Given the description of an element on the screen output the (x, y) to click on. 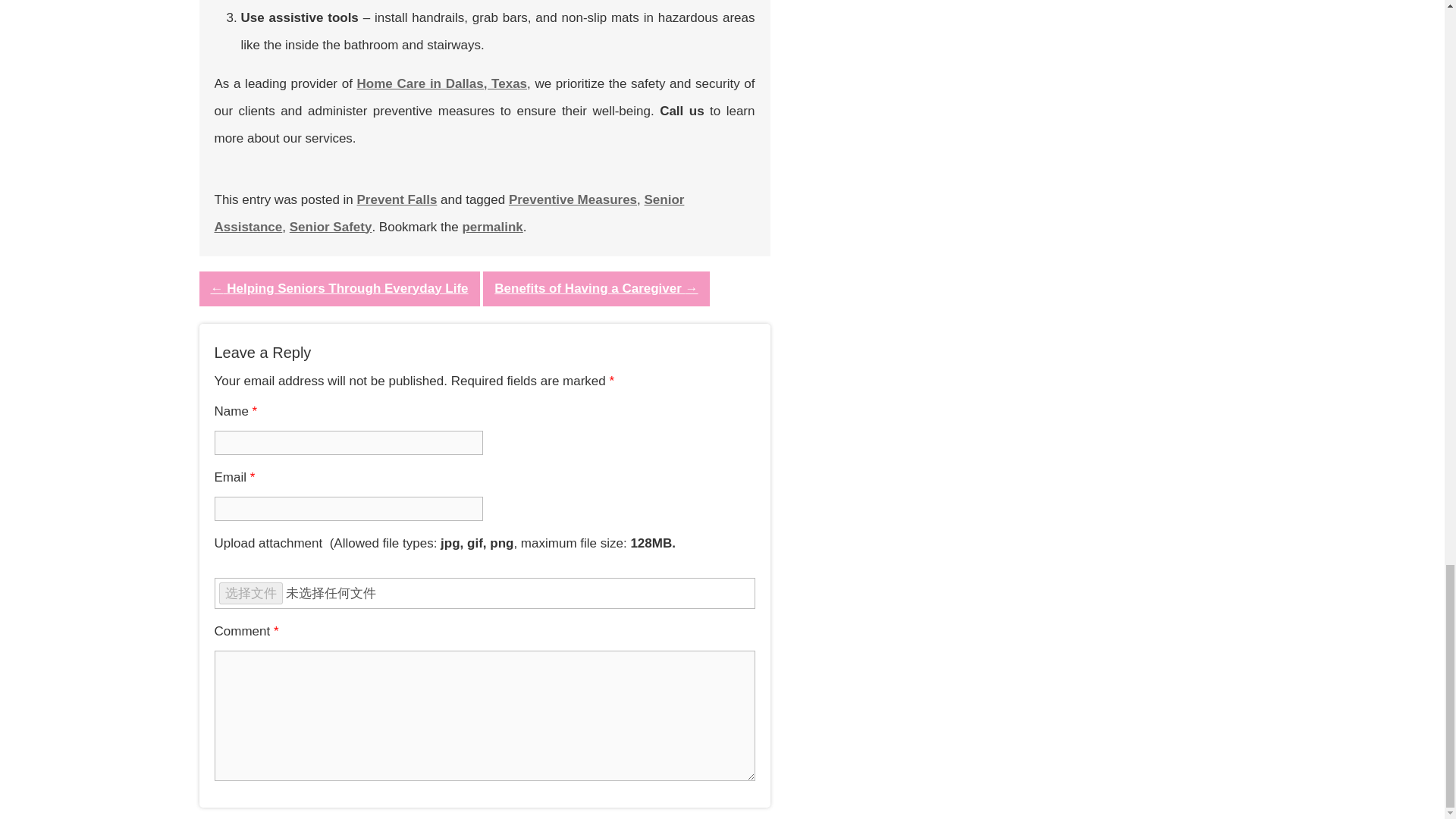
Prevent Falls (397, 199)
Call us (681, 110)
Preventive Measures (572, 199)
permalink (491, 227)
Senior Assistance (449, 213)
Home Care in Dallas, Texas (441, 83)
Senior Safety (330, 227)
